Given the description of an element on the screen output the (x, y) to click on. 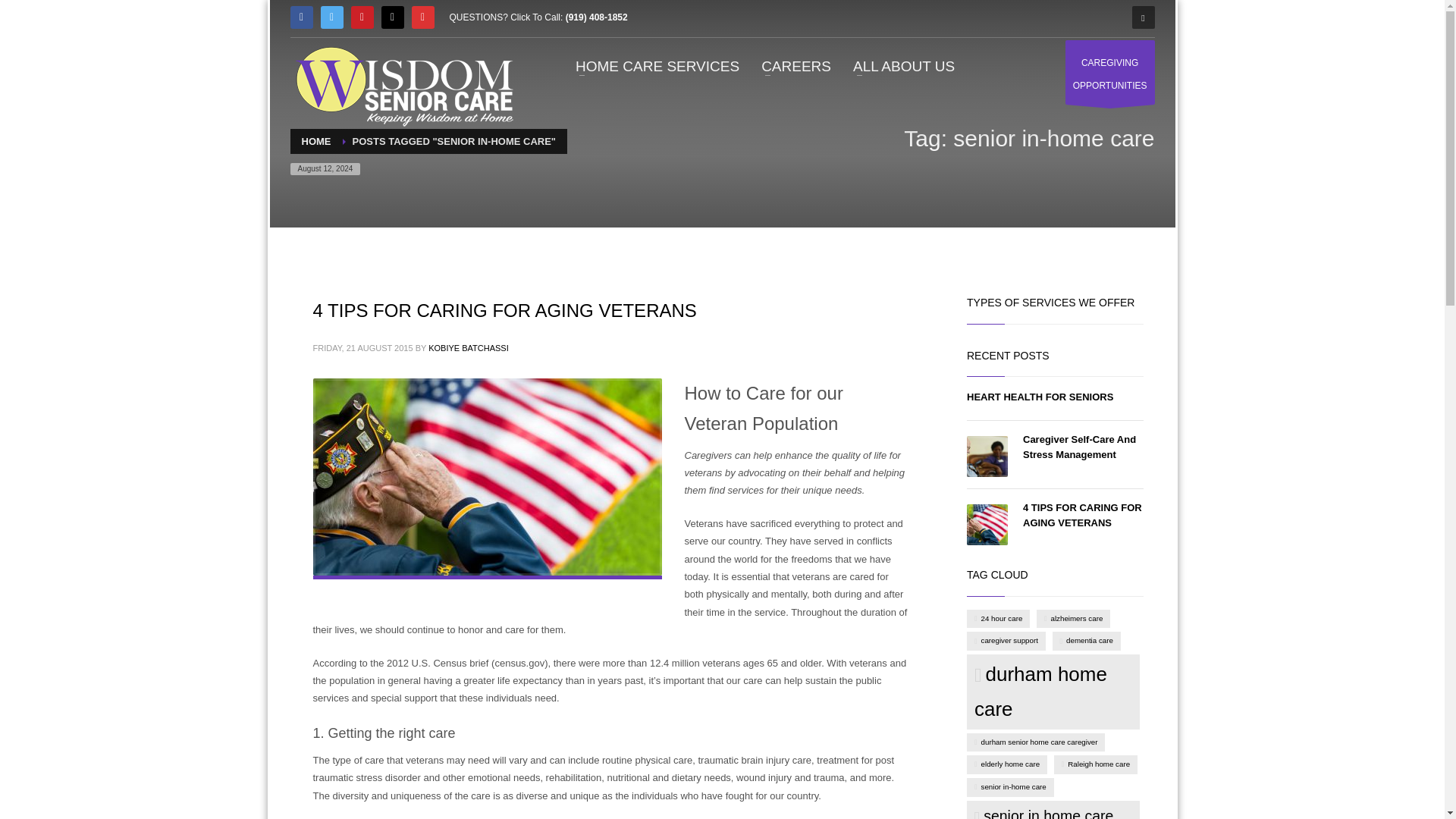
CAREERS (796, 66)
facebook (1109, 72)
Caregiver Self-Care And Stress Management (301, 16)
Keeping Wisdom At Home (1079, 447)
HEART HEALTH FOR SENIORS (402, 83)
KOBIYE BATCHASSI (1039, 396)
4 TIPS FOR CARING FOR AGING VETERANS (468, 347)
Trouble Ticket (1082, 515)
HOME (391, 16)
